Given the description of an element on the screen output the (x, y) to click on. 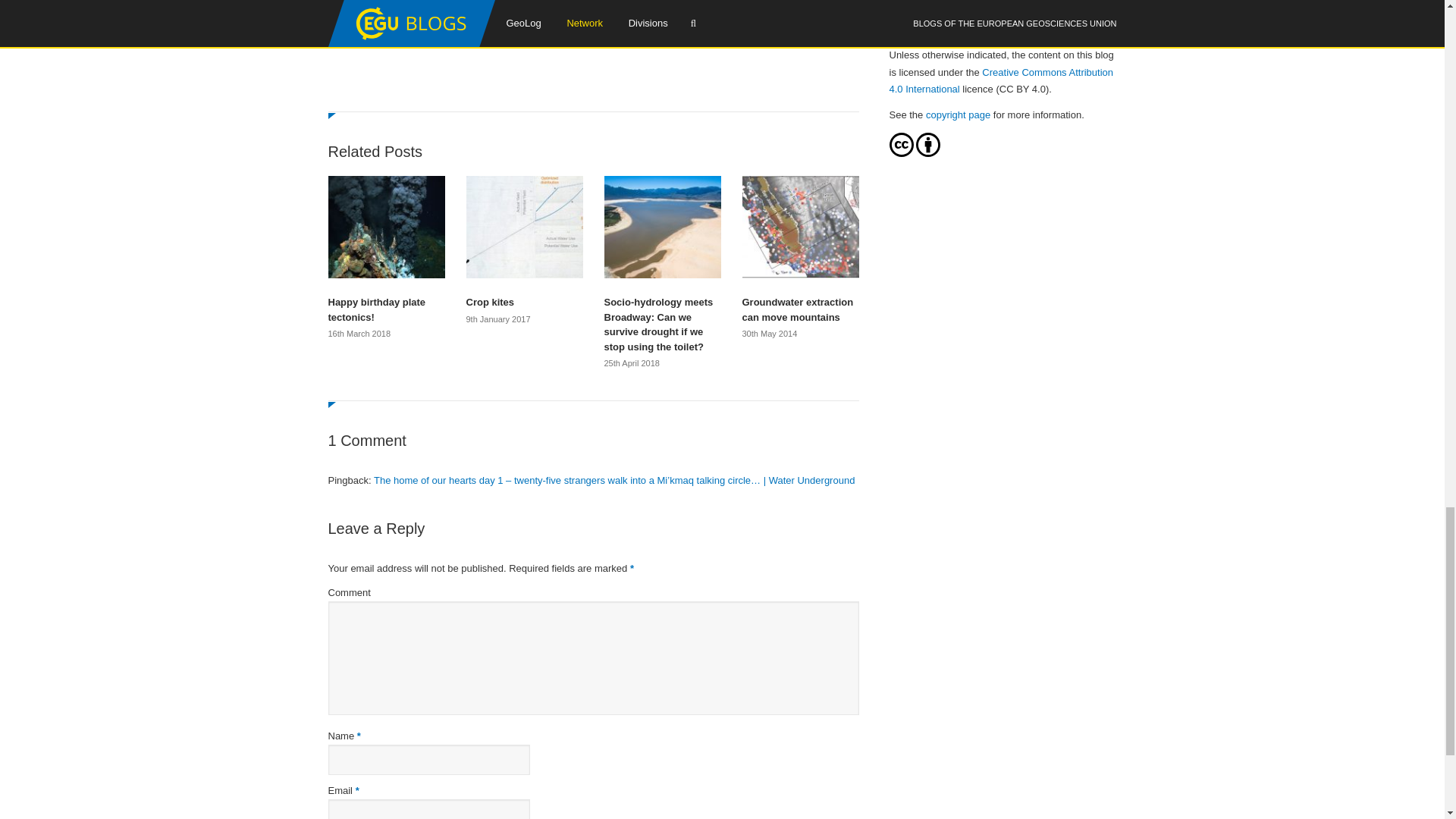
Groundwater extraction can move mountains (800, 309)
Crop kites (523, 302)
Happy birthday plate tectonics! (385, 309)
